Given the description of an element on the screen output the (x, y) to click on. 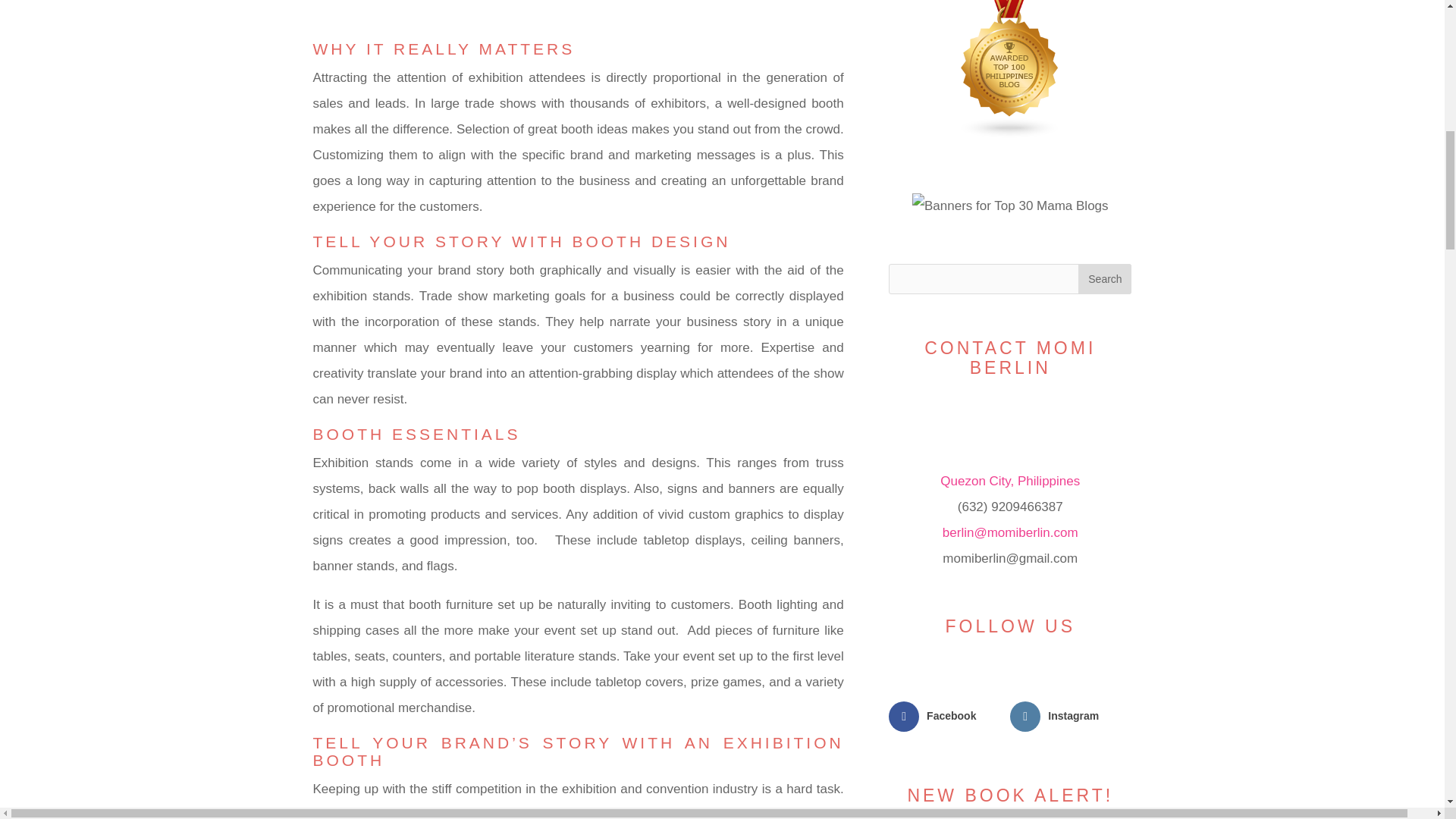
Search (1104, 278)
Banners for Top 30 Mama Blogs (1010, 205)
Philippines blogs (1010, 134)
exhibition booths (490, 813)
Quezon City, Philippines (1010, 481)
Facebook (949, 716)
Instagram (1070, 716)
